Given the description of an element on the screen output the (x, y) to click on. 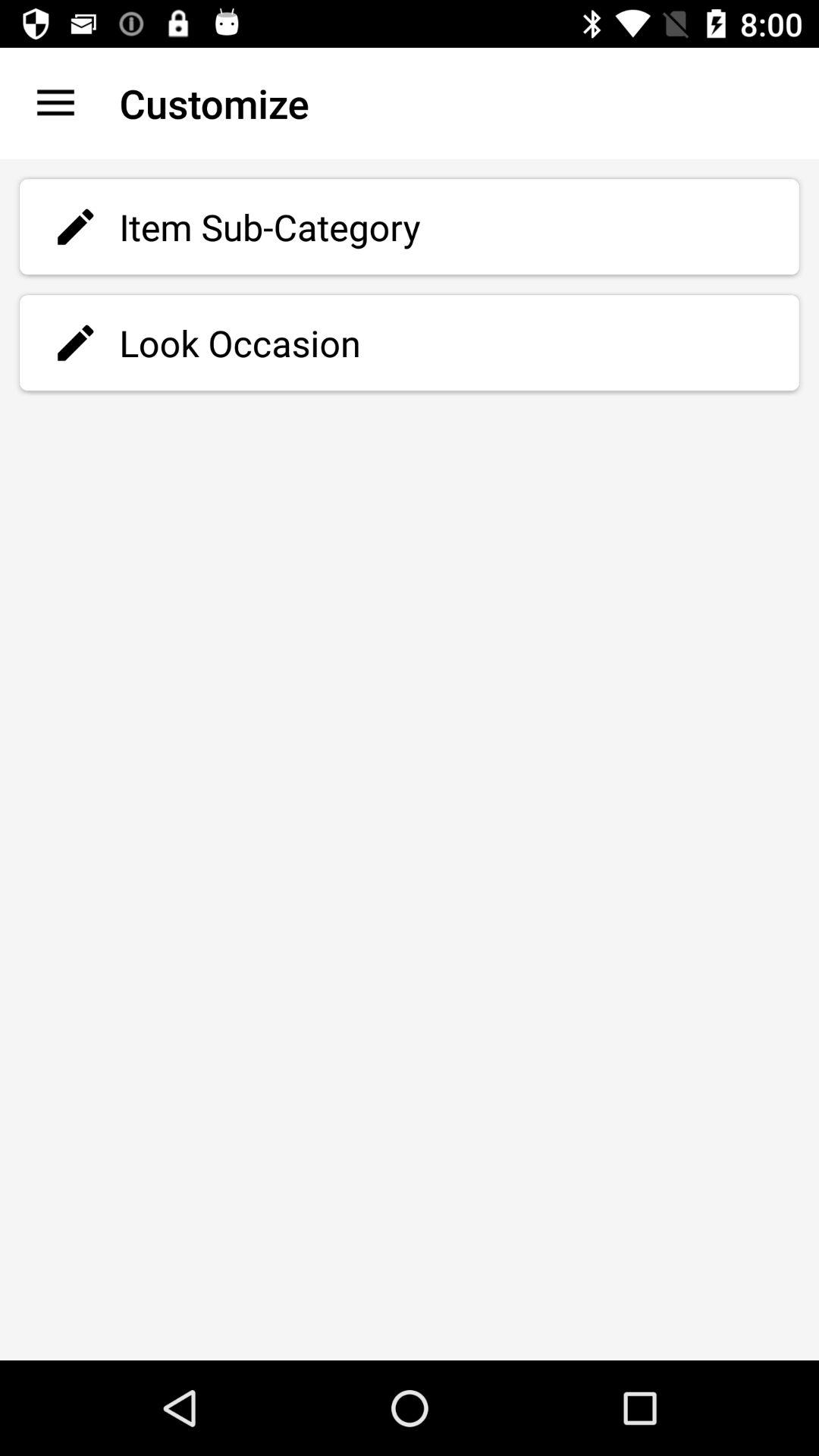
swipe to look occasion icon (409, 342)
